Given the description of an element on the screen output the (x, y) to click on. 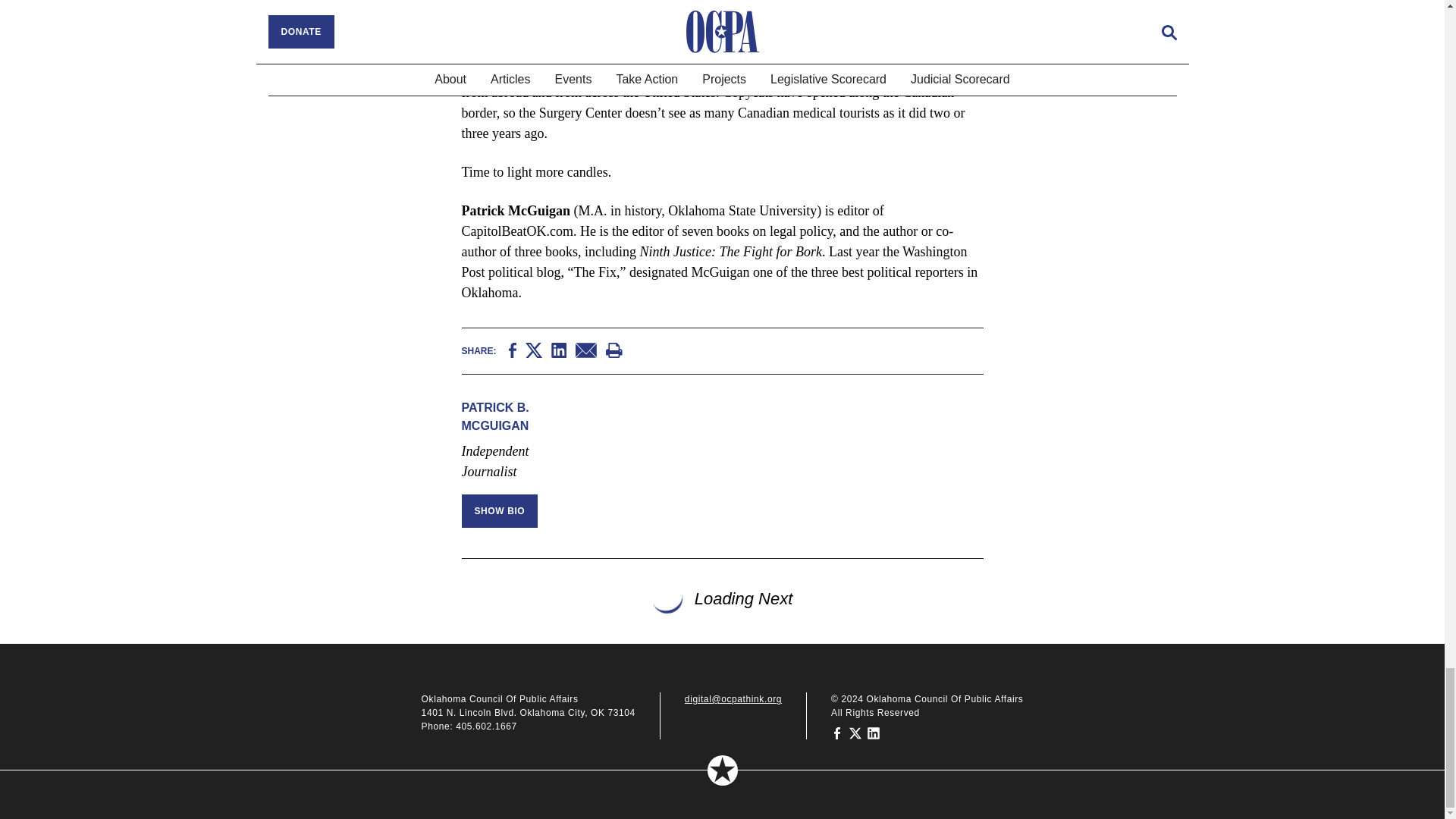
Facebook Logo (837, 732)
LinkedIn Logo (873, 733)
LinkedIn Logo (559, 349)
SHOW BIO (499, 510)
X Logo (854, 733)
Facebook Logo (837, 733)
X Logo (533, 349)
LinkedIn Logo (873, 732)
LinkedIn Logo (558, 350)
X Logo (533, 350)
X Logo (854, 732)
